Given the description of an element on the screen output the (x, y) to click on. 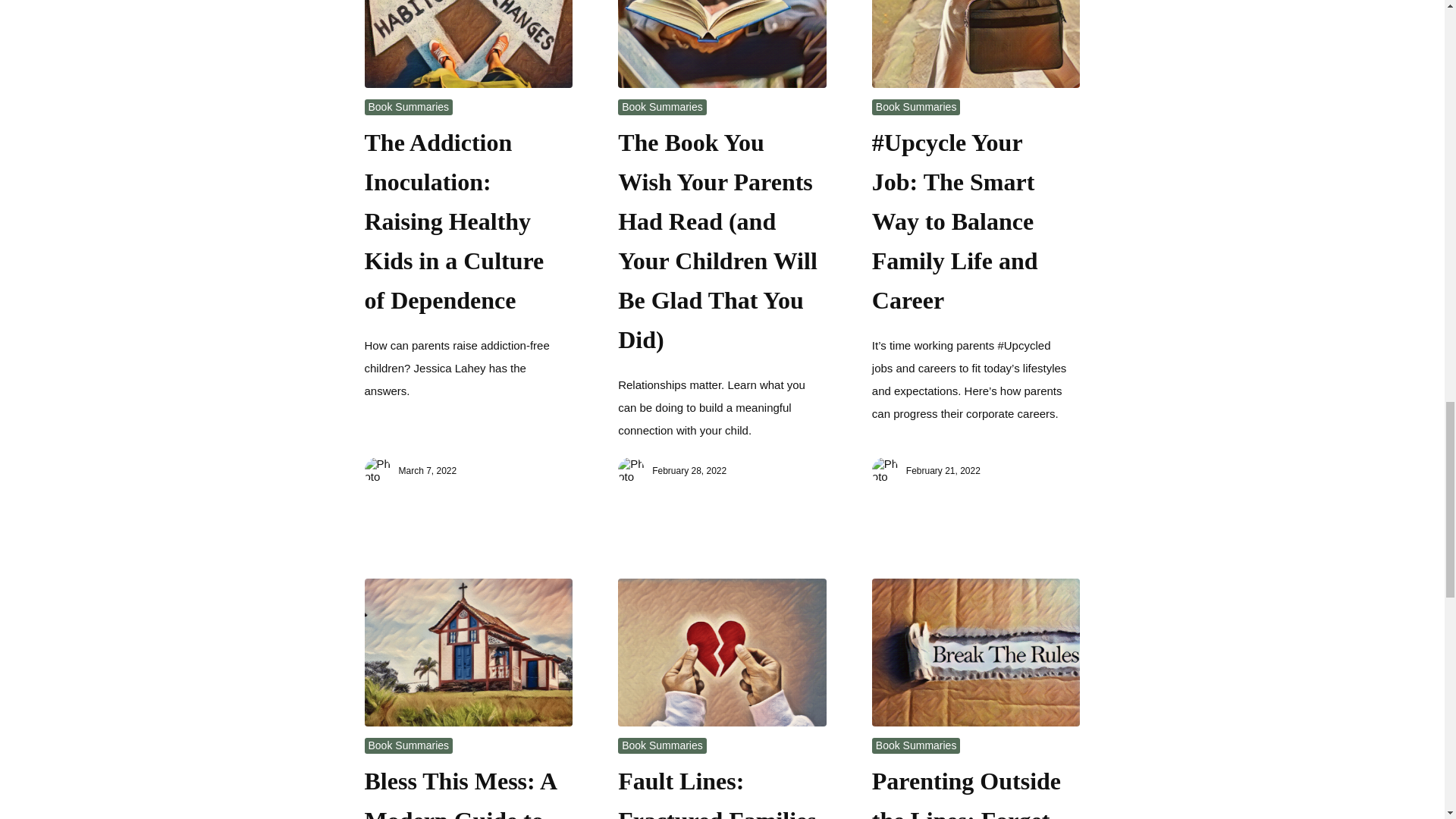
Book Summaries (916, 106)
Book Summaries (662, 106)
Book Summaries (408, 106)
